Given the description of an element on the screen output the (x, y) to click on. 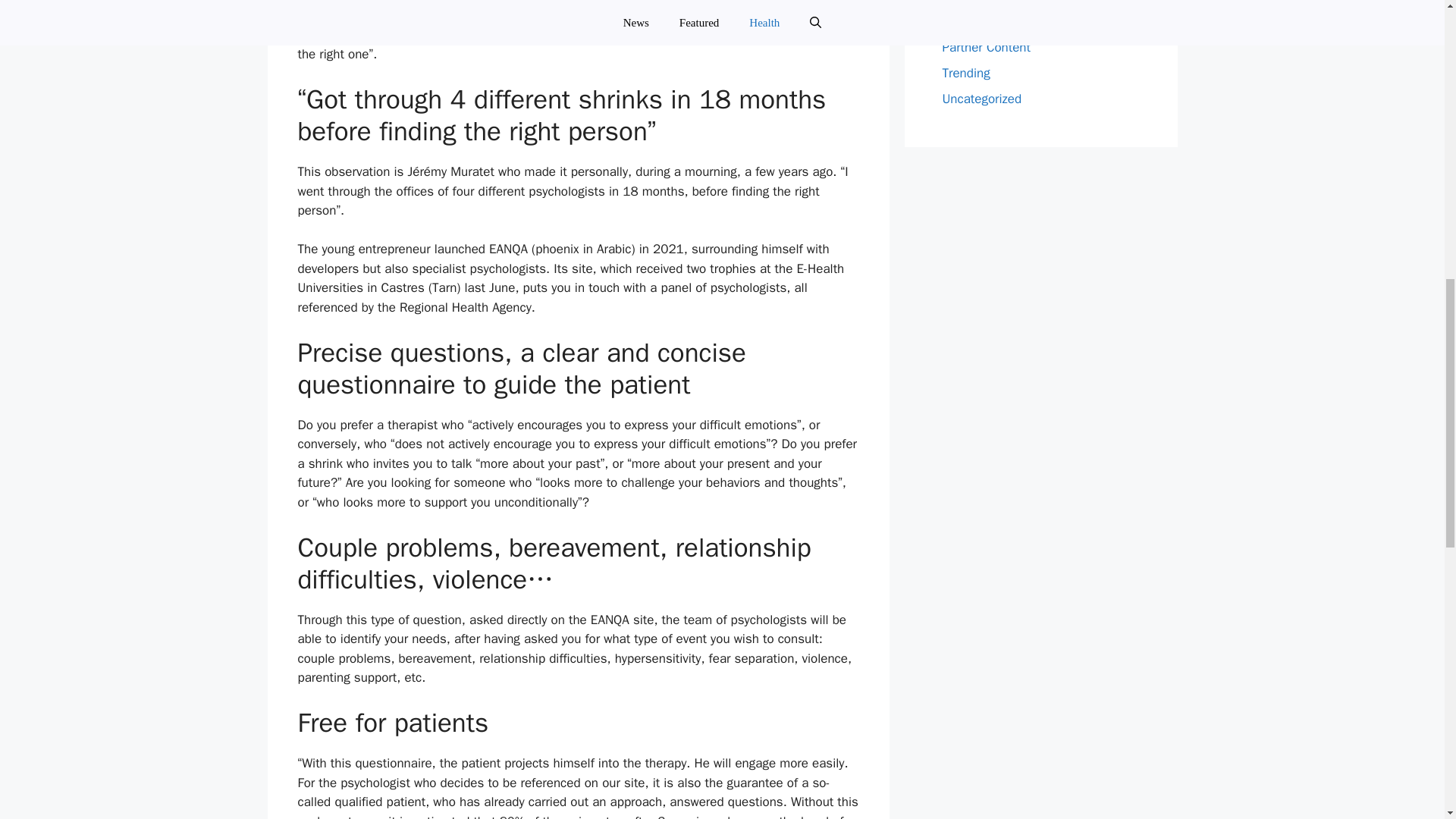
Uncategorized (982, 98)
Health (960, 2)
Trending (966, 73)
News (957, 21)
Partner Content (985, 47)
